Given the description of an element on the screen output the (x, y) to click on. 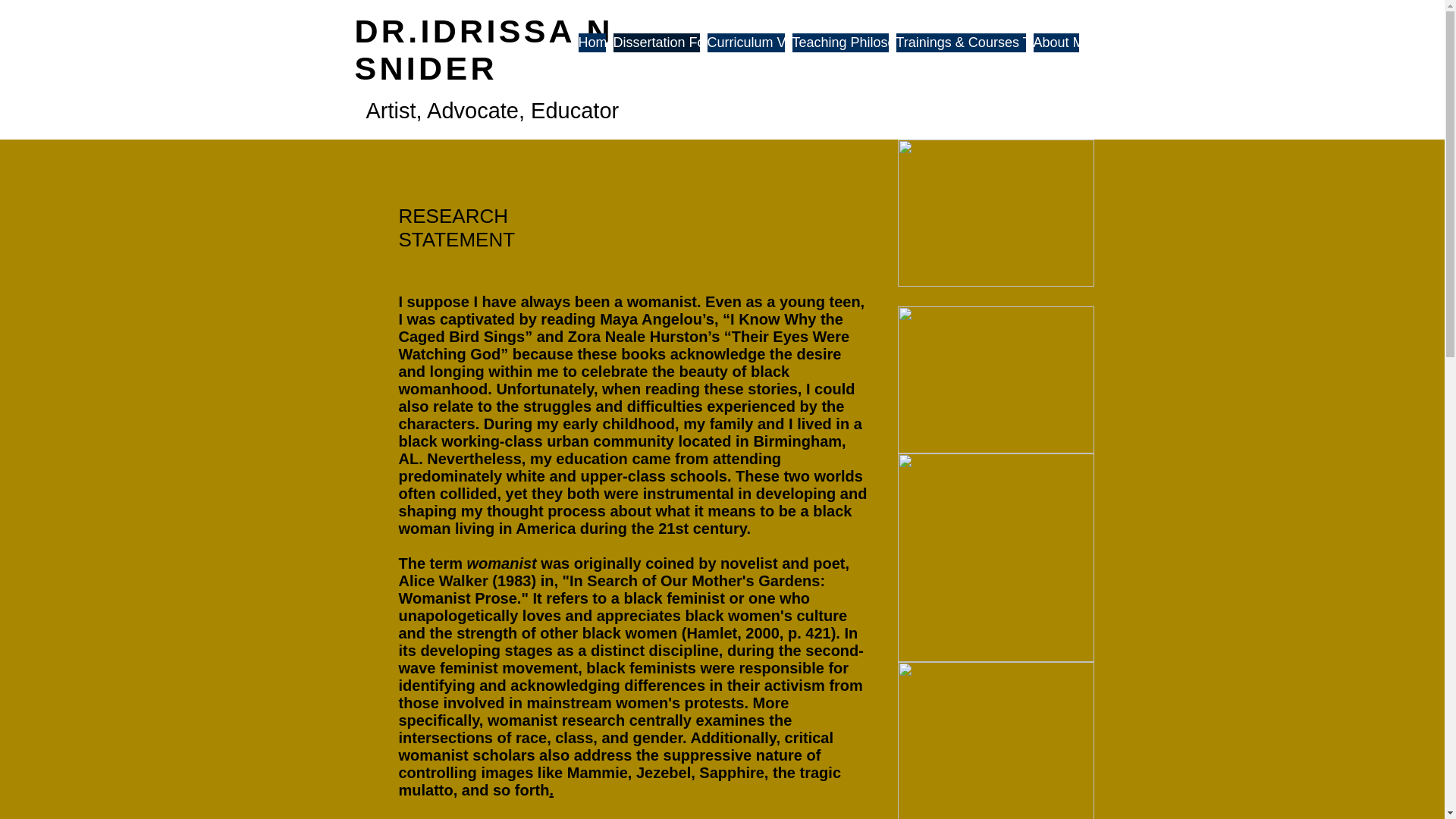
Home (591, 42)
DR.IDRISSA N. SNIDE (490, 49)
Teaching Philosophy (840, 42)
About Me (1055, 42)
Dissertation Focus (655, 42)
Curriculum Vitae (745, 42)
